Given the description of an element on the screen output the (x, y) to click on. 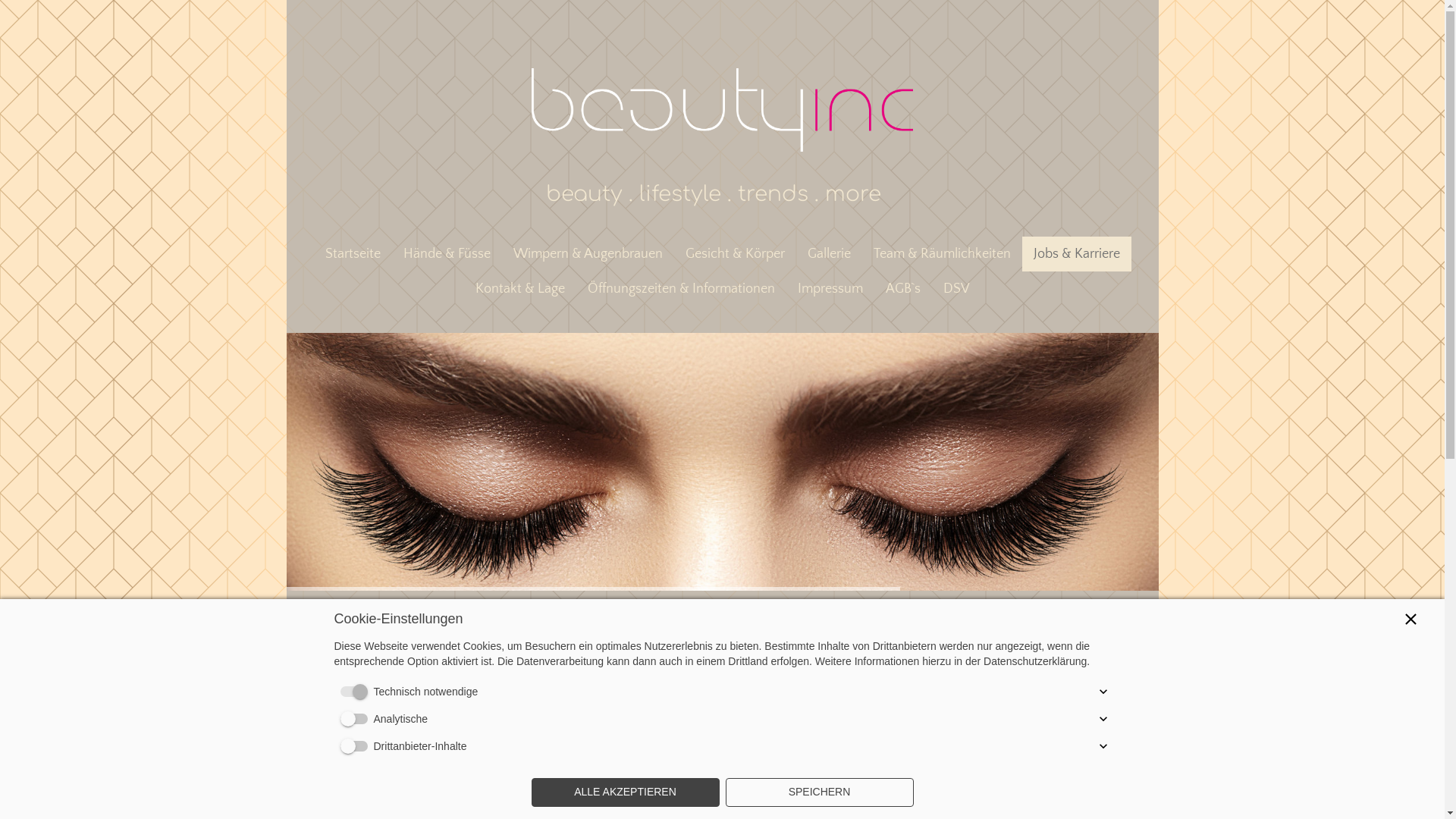
SPEICHERN Element type: text (818, 792)
Gallerie Element type: text (829, 253)
AGB`s Element type: text (902, 288)
DSV Element type: text (955, 288)
Kontakt & Lage Element type: text (520, 288)
ALLE AKZEPTIEREN Element type: text (624, 792)
Wimpern & Augenbrauen Element type: text (588, 253)
Startseite Element type: text (352, 253)
welcome@beautyinc.ch Element type: text (637, 800)
Impressum Element type: text (829, 288)
Jobs & Karriere Element type: text (1076, 253)
